Given the description of an element on the screen output the (x, y) to click on. 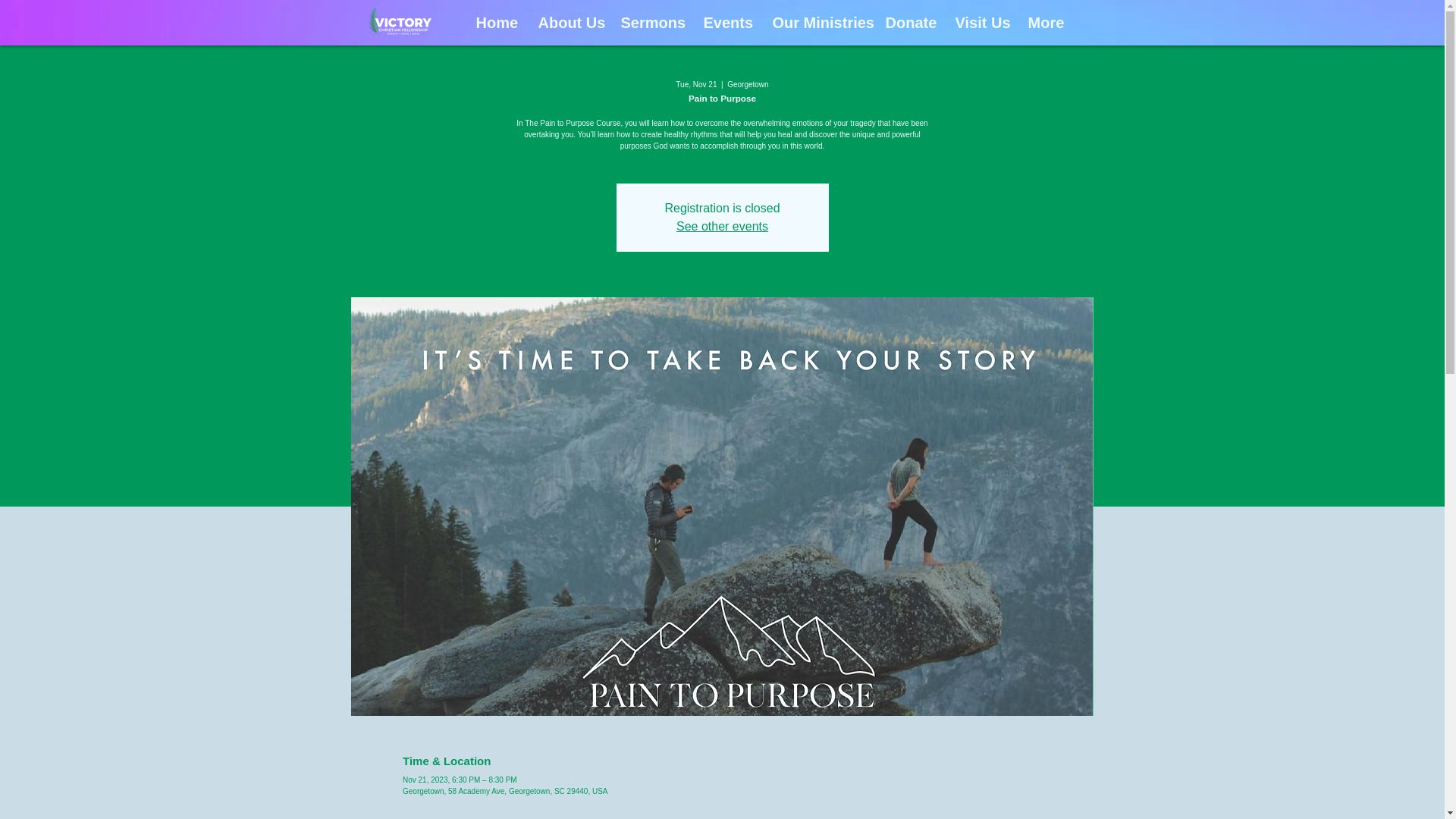
Donate (903, 22)
Our Ministries (809, 22)
Events (725, 22)
Events (715, 22)
Donate (908, 22)
About Us (558, 22)
Sermons (642, 22)
Visit Us (979, 22)
Sermons (651, 22)
Our Ministries (818, 22)
Home (483, 22)
Home (494, 22)
About Us (566, 22)
Visit Us (976, 22)
See other events (722, 226)
